Given the description of an element on the screen output the (x, y) to click on. 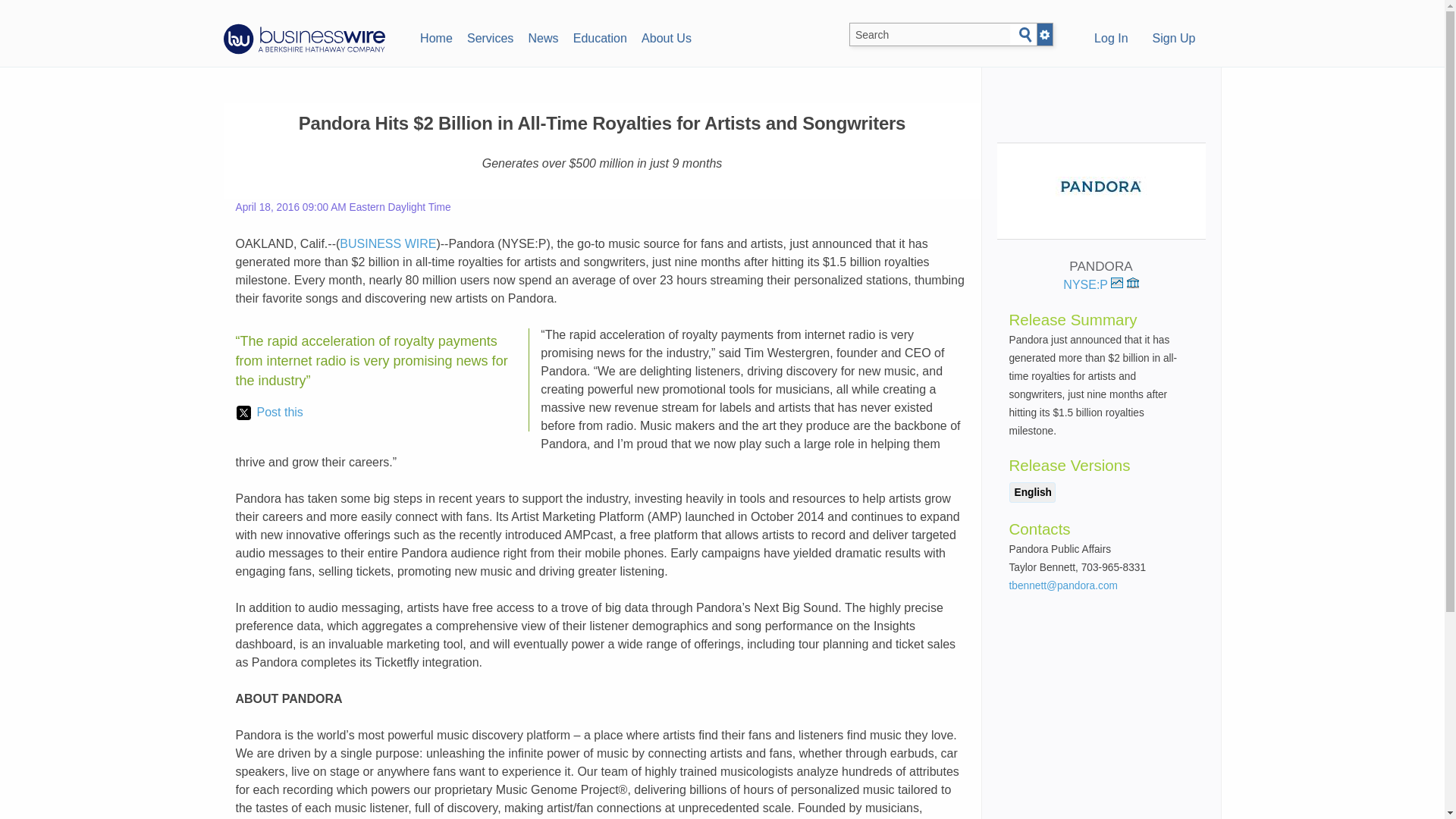
NYSE:P (1092, 284)
Post this (269, 412)
Home (436, 36)
News (543, 36)
View stock quote and chart (1116, 282)
Search BusinessWire.com (930, 34)
About Us (665, 36)
Education (599, 36)
Services (490, 36)
BUSINESS WIRE (387, 243)
